Given the description of an element on the screen output the (x, y) to click on. 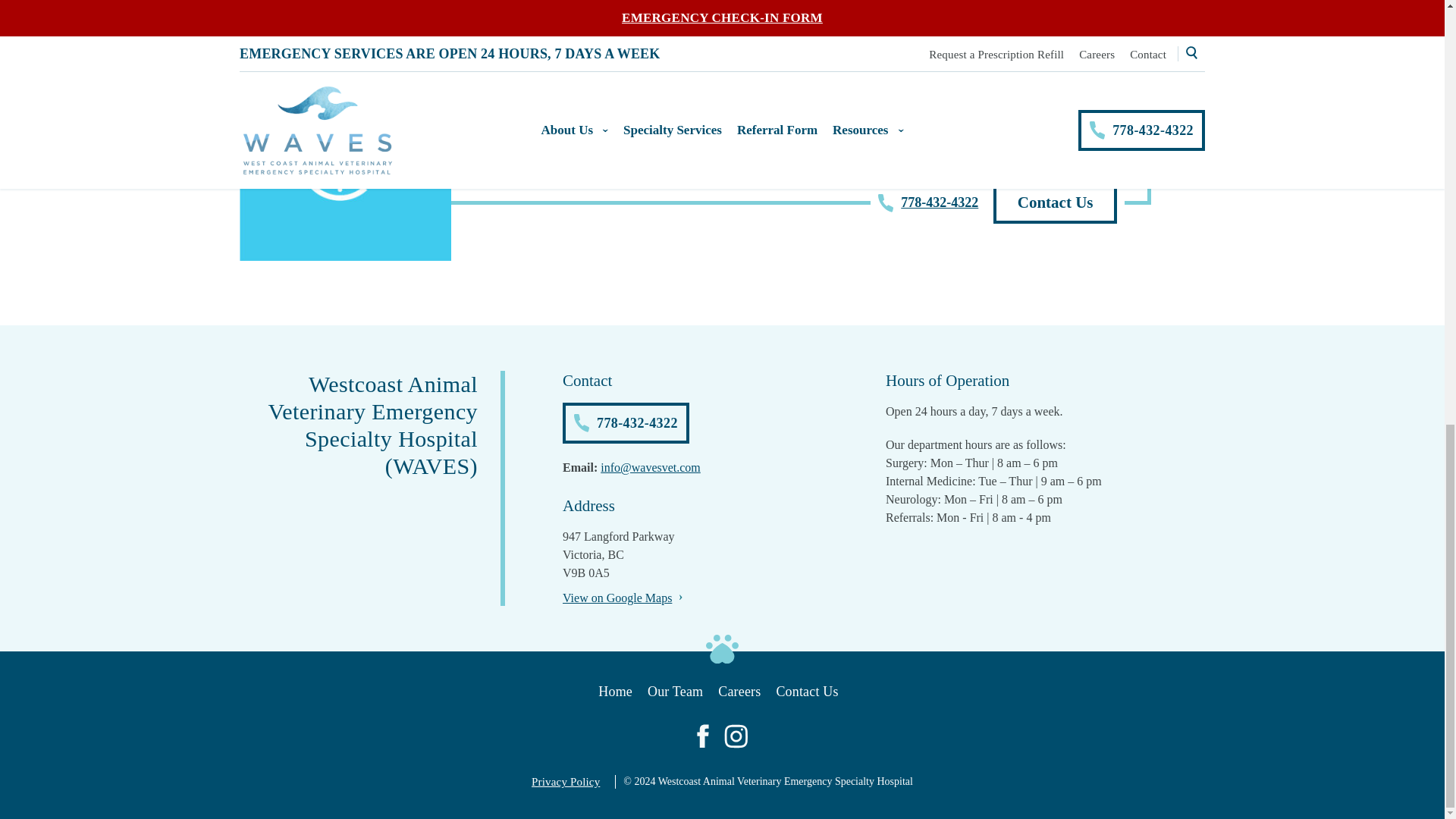
Contact Us (1054, 202)
778-432-4322 (927, 203)
